Given the description of an element on the screen output the (x, y) to click on. 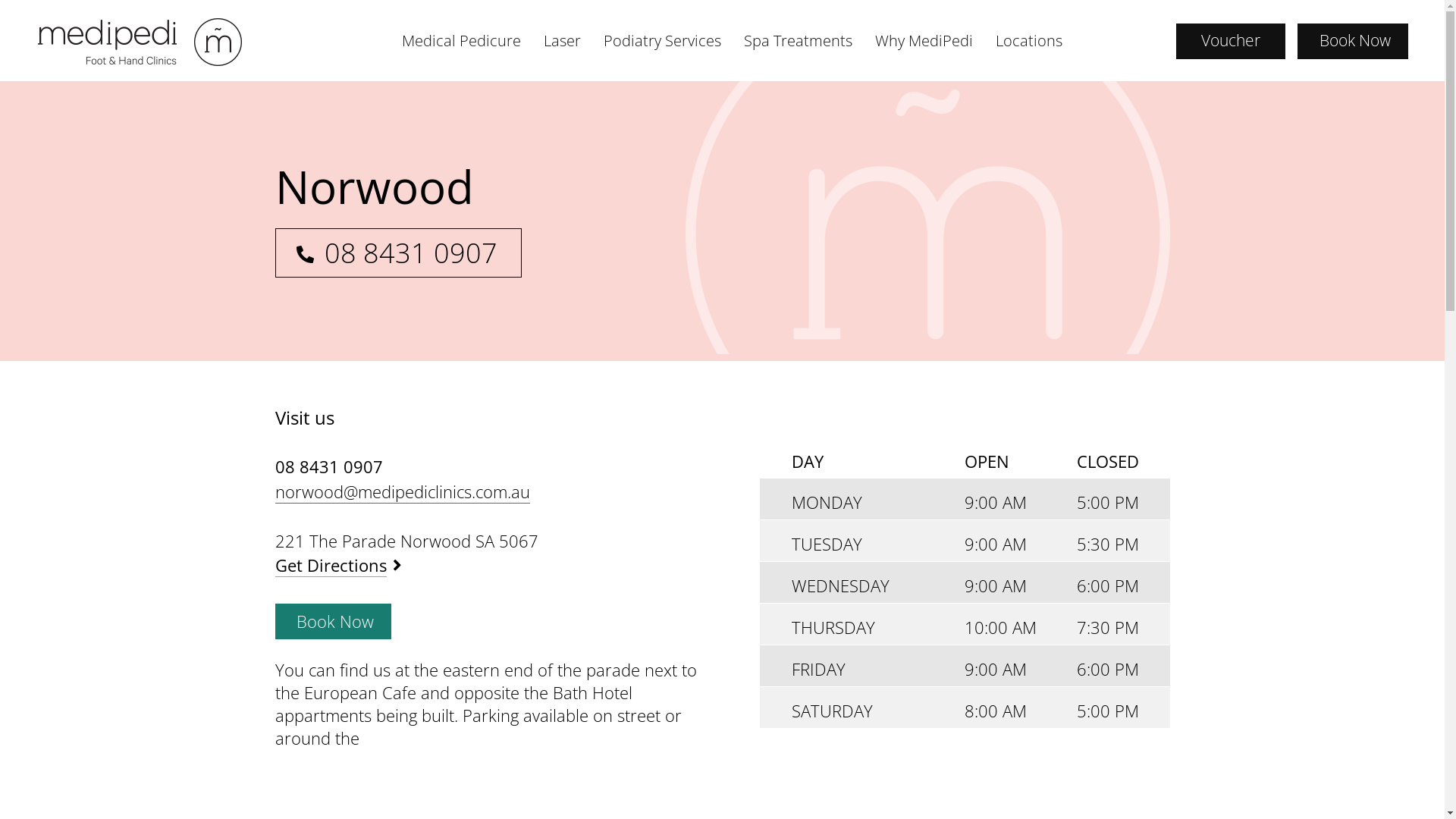
Voucher Element type: text (1230, 41)
Why MediPedi Element type: text (923, 40)
Get Directions Element type: text (337, 565)
Locations Element type: text (1028, 40)
Laser Element type: text (562, 40)
Spa Treatments Element type: text (797, 40)
08 8431 0907 Element type: text (397, 252)
Book Now Element type: text (332, 621)
Book Now Element type: text (1352, 41)
Podiatry Services Element type: text (662, 40)
norwood@medipediclinics.com.au Element type: text (401, 491)
Medical Pedicure Element type: text (461, 40)
